Given the description of an element on the screen output the (x, y) to click on. 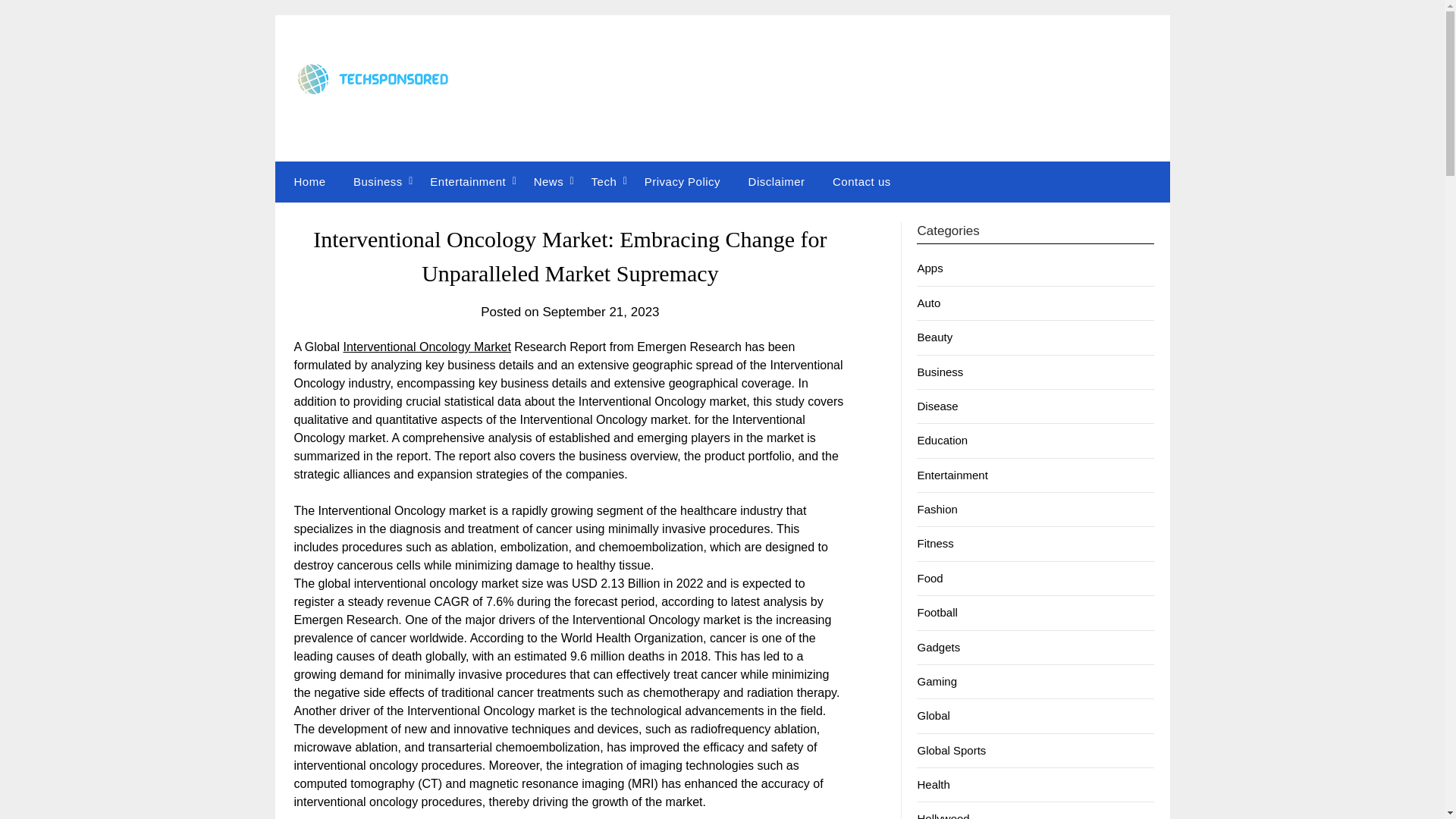
Contact us (861, 181)
Tech (603, 181)
News (548, 181)
Interventional Oncology Market (426, 346)
Business (377, 181)
Disclaimer (776, 181)
Privacy Policy (681, 181)
Entertainment (467, 181)
Home (306, 181)
